Given the description of an element on the screen output the (x, y) to click on. 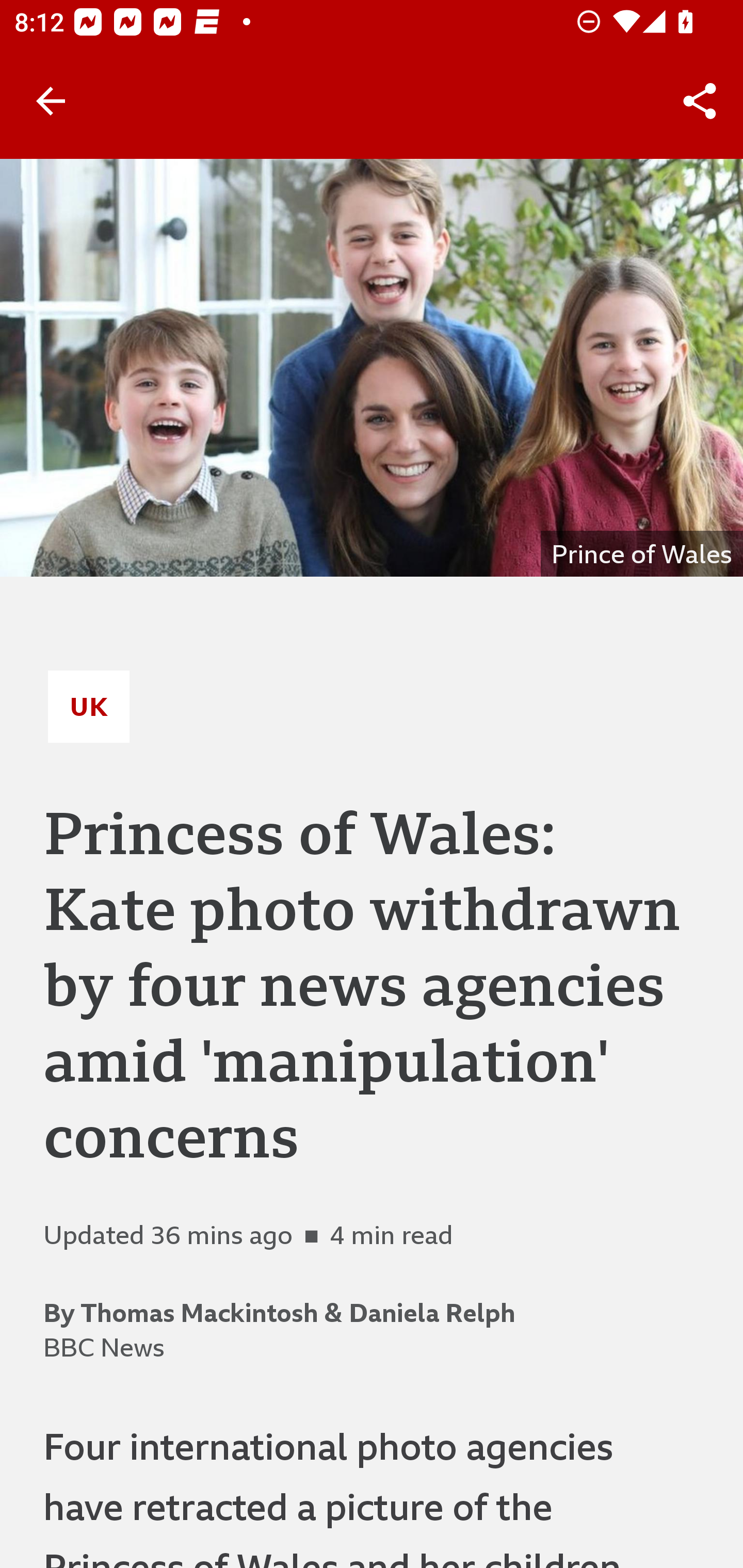
Back (50, 101)
Share (699, 101)
UK (88, 706)
